Given the description of an element on the screen output the (x, y) to click on. 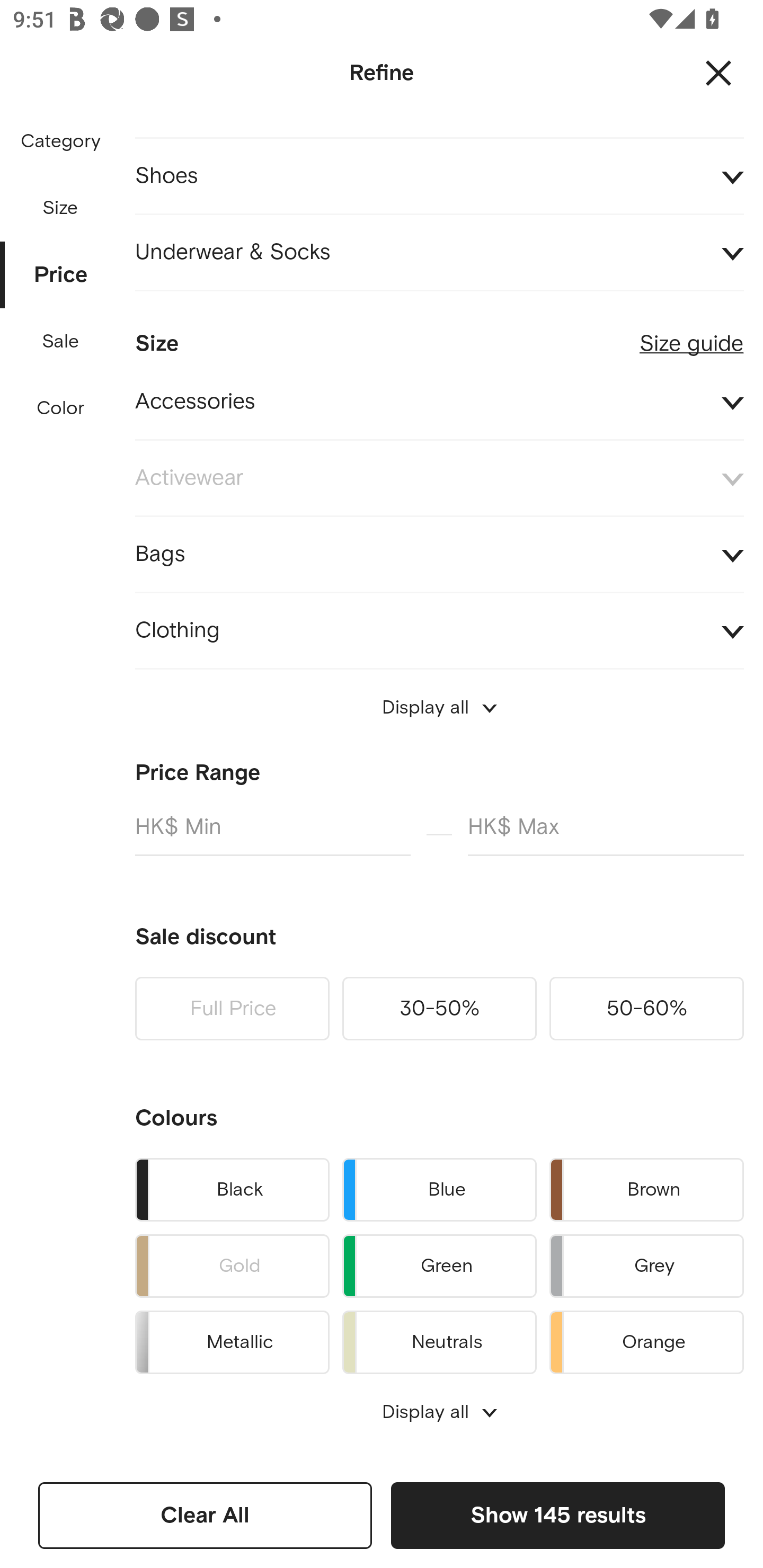
Category (60, 141)
Shoes (439, 175)
Size (60, 208)
Underwear & Socks (439, 252)
Price (60, 274)
Sale (60, 342)
Size guide (691, 335)
Accessories (439, 401)
Color (60, 408)
Activewear (439, 477)
Bags (439, 553)
Clothing (439, 630)
Display all (439, 707)
HK$ Min (272, 833)
HK$ Max (605, 833)
Full Price (232, 1008)
30-50% (439, 1008)
50-60% (646, 1008)
Black (232, 1188)
Blue (439, 1188)
Brown (646, 1188)
Gold (232, 1265)
Green (439, 1265)
Grey (646, 1265)
Metallic (232, 1338)
Neutrals (439, 1338)
Orange (646, 1338)
Display all (439, 1411)
Clear All (205, 1515)
Show 145 results (557, 1515)
